Given the description of an element on the screen output the (x, y) to click on. 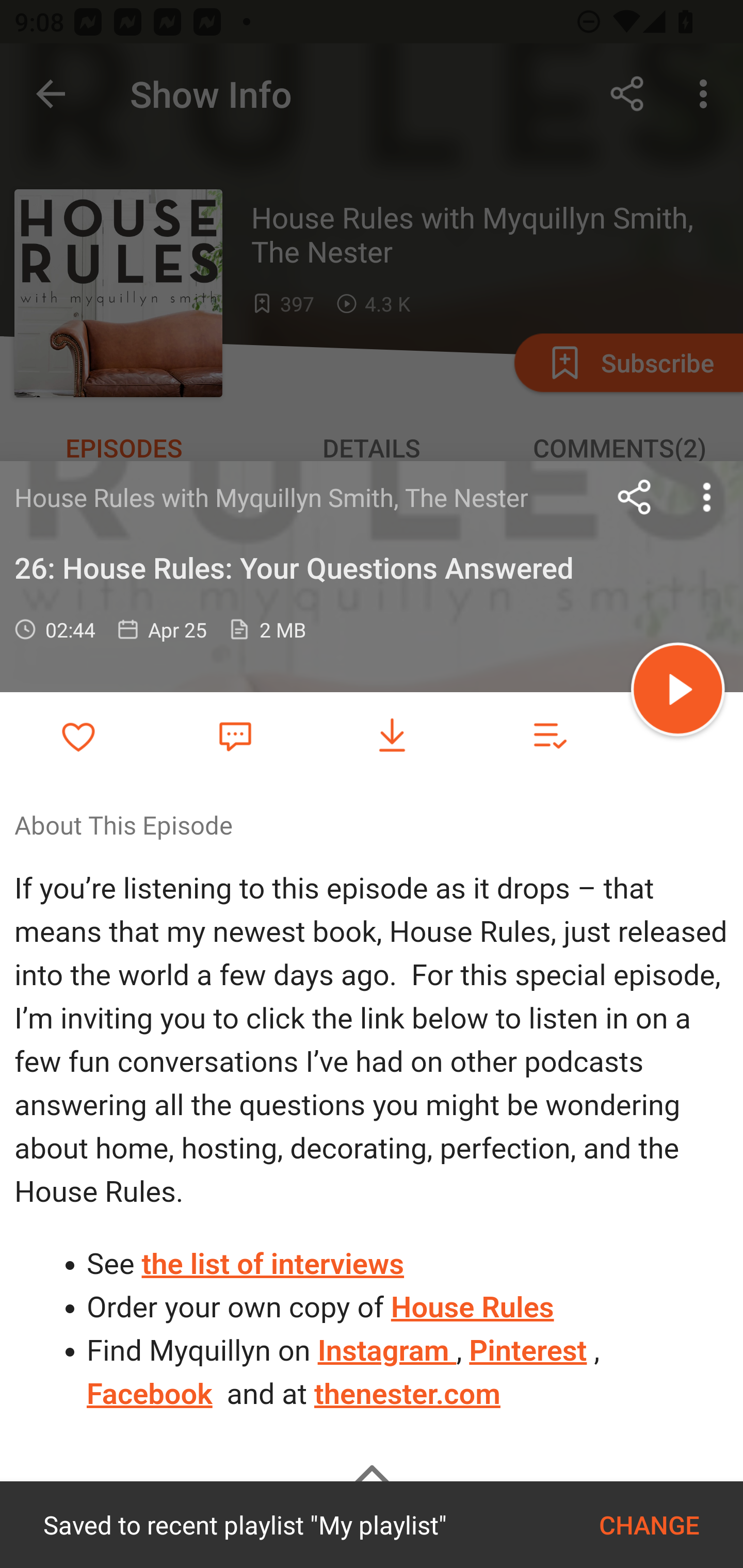
Share (634, 496)
more options (706, 496)
Play (677, 692)
Favorite (234, 735)
Add to Favorites (78, 735)
Download (391, 735)
Add to playlist (548, 735)
the list of interviews (273, 1264)
House Rules (472, 1306)
Instagram  (385, 1350)
Pinterest (527, 1350)
Facebook (149, 1394)
thenester.com (408, 1394)
Saved to recent playlist "My playlist" CHANGE (371, 1524)
CHANGE (648, 1524)
